Given the description of an element on the screen output the (x, y) to click on. 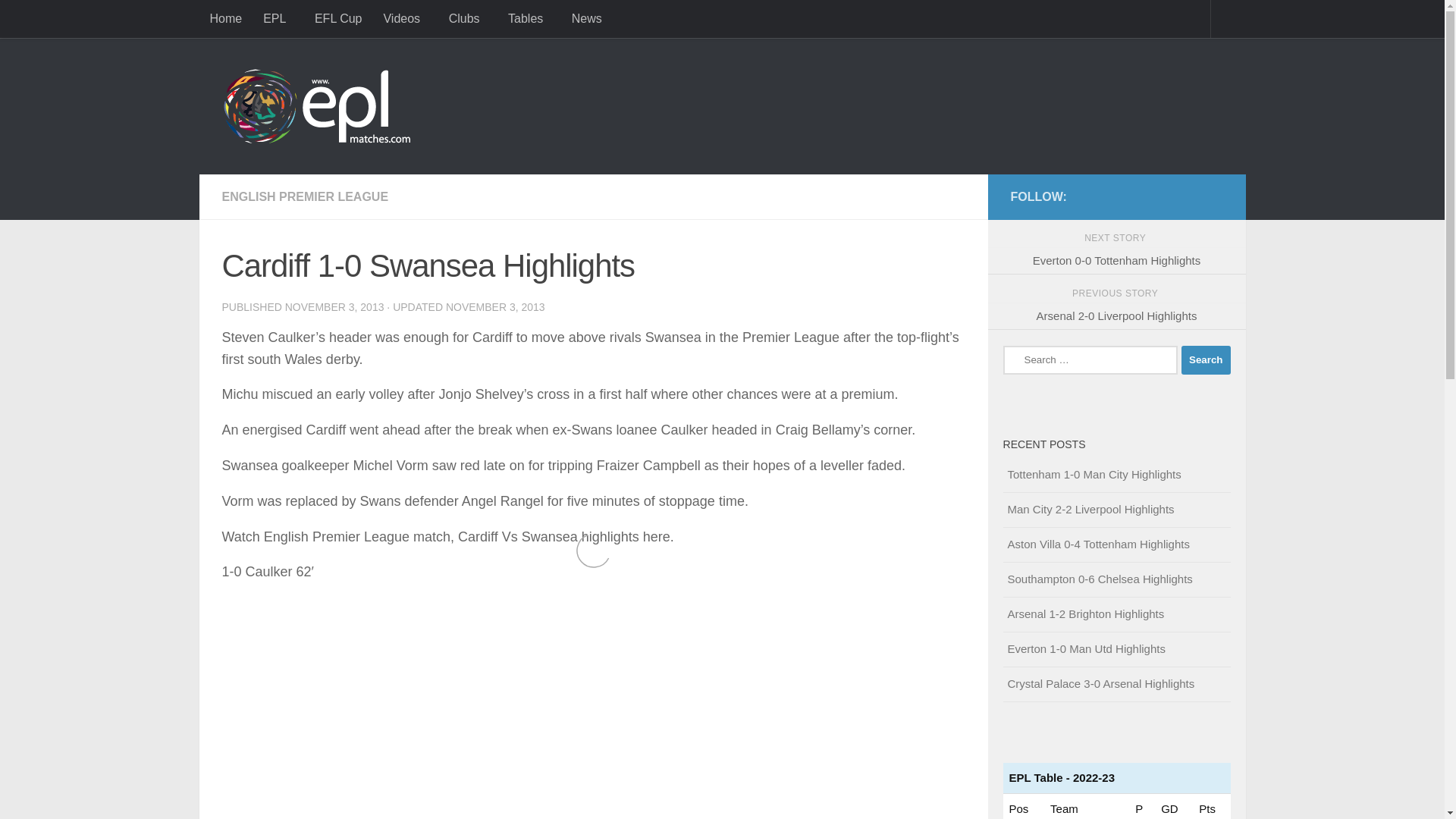
Tables (528, 18)
Home (224, 18)
Search (1205, 359)
EPL (277, 18)
Clubs (467, 18)
Search (1205, 359)
Videos (405, 18)
Skip to content (63, 20)
News (586, 18)
EFL Cup (338, 18)
